Given the description of an element on the screen output the (x, y) to click on. 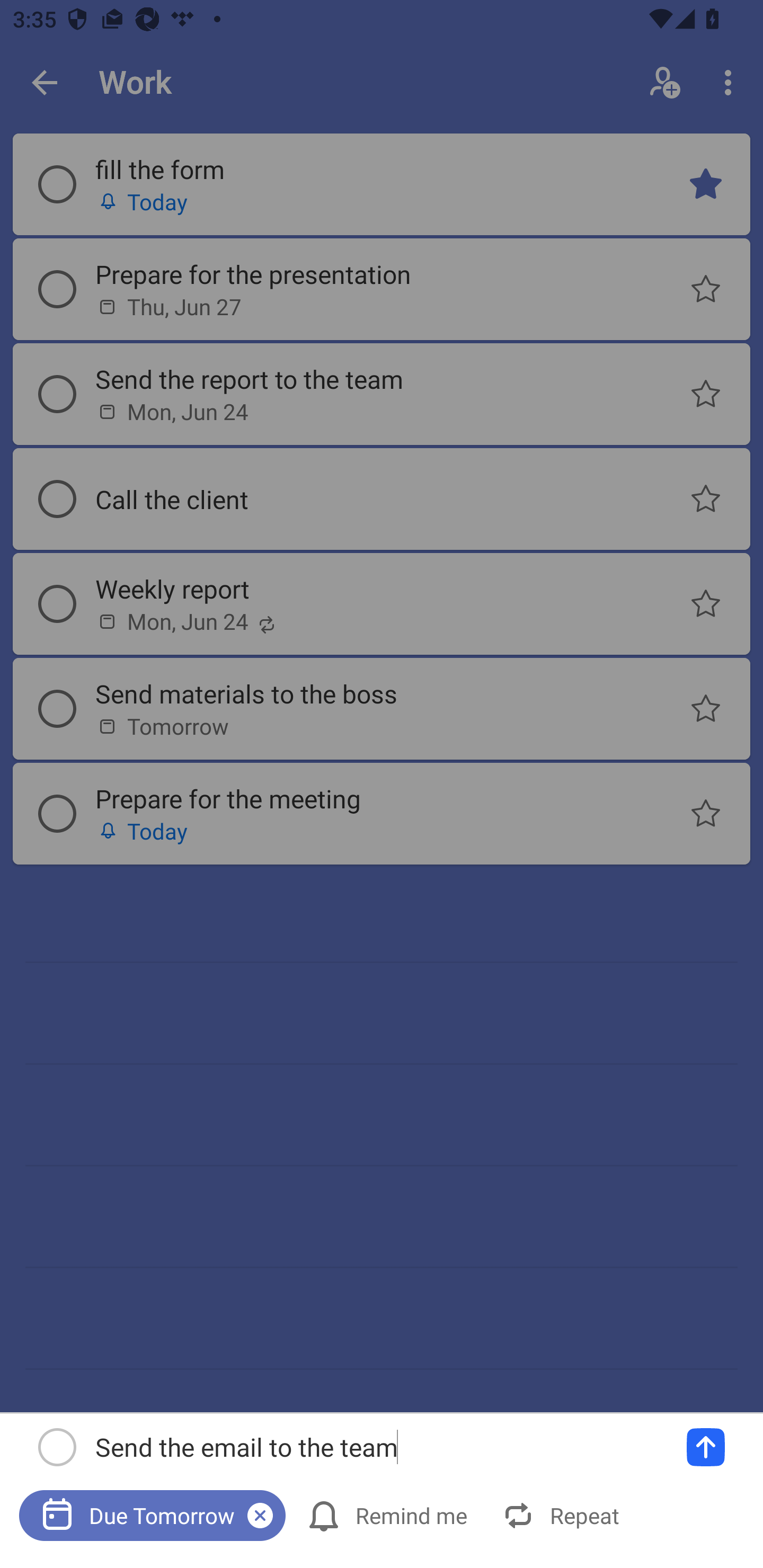
Add a task (705, 1446)
